Given the description of an element on the screen output the (x, y) to click on. 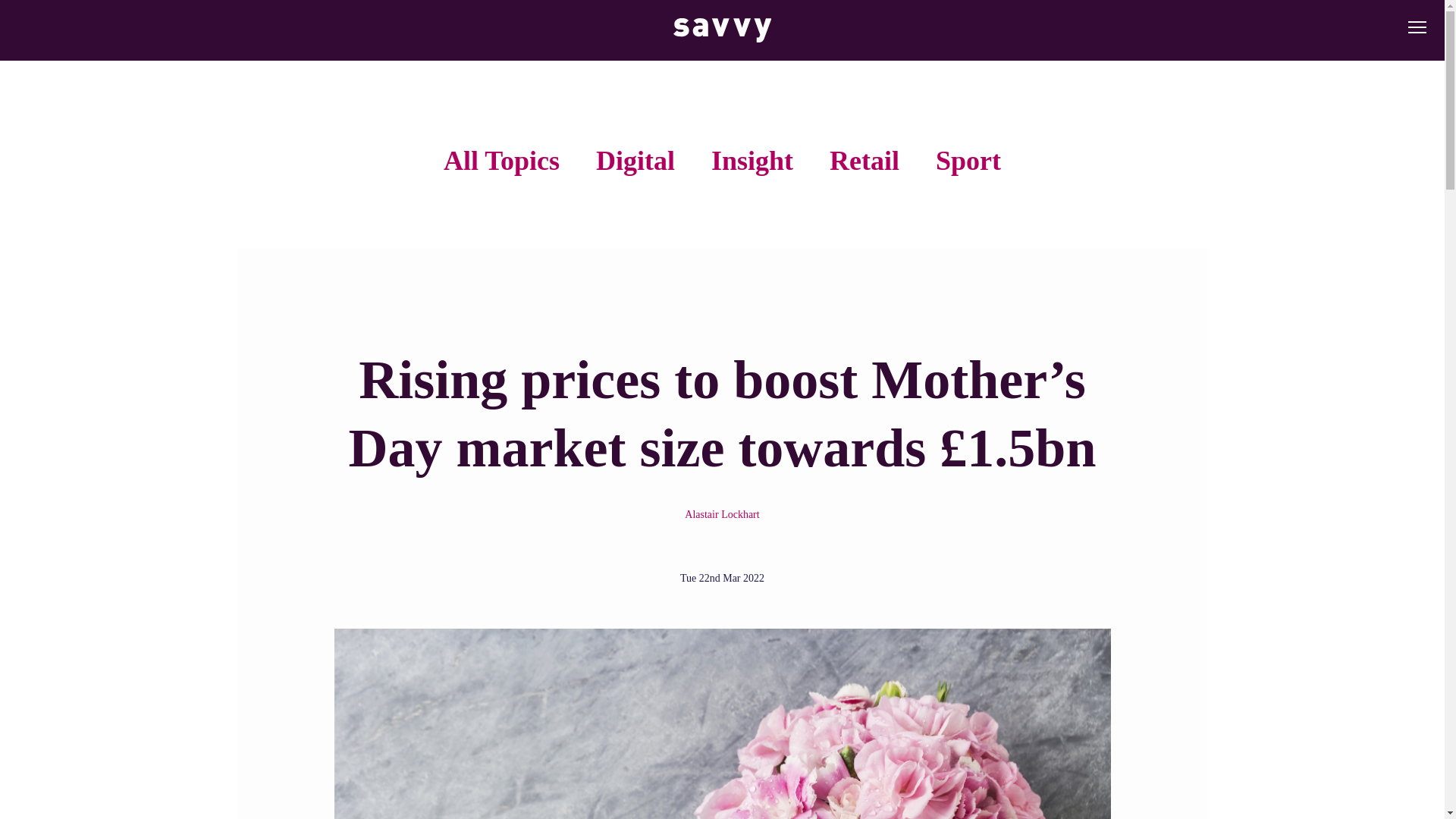
All Topics (501, 160)
Digital (635, 160)
Sport (968, 160)
Insight (752, 160)
Retail (864, 160)
